Given the description of an element on the screen output the (x, y) to click on. 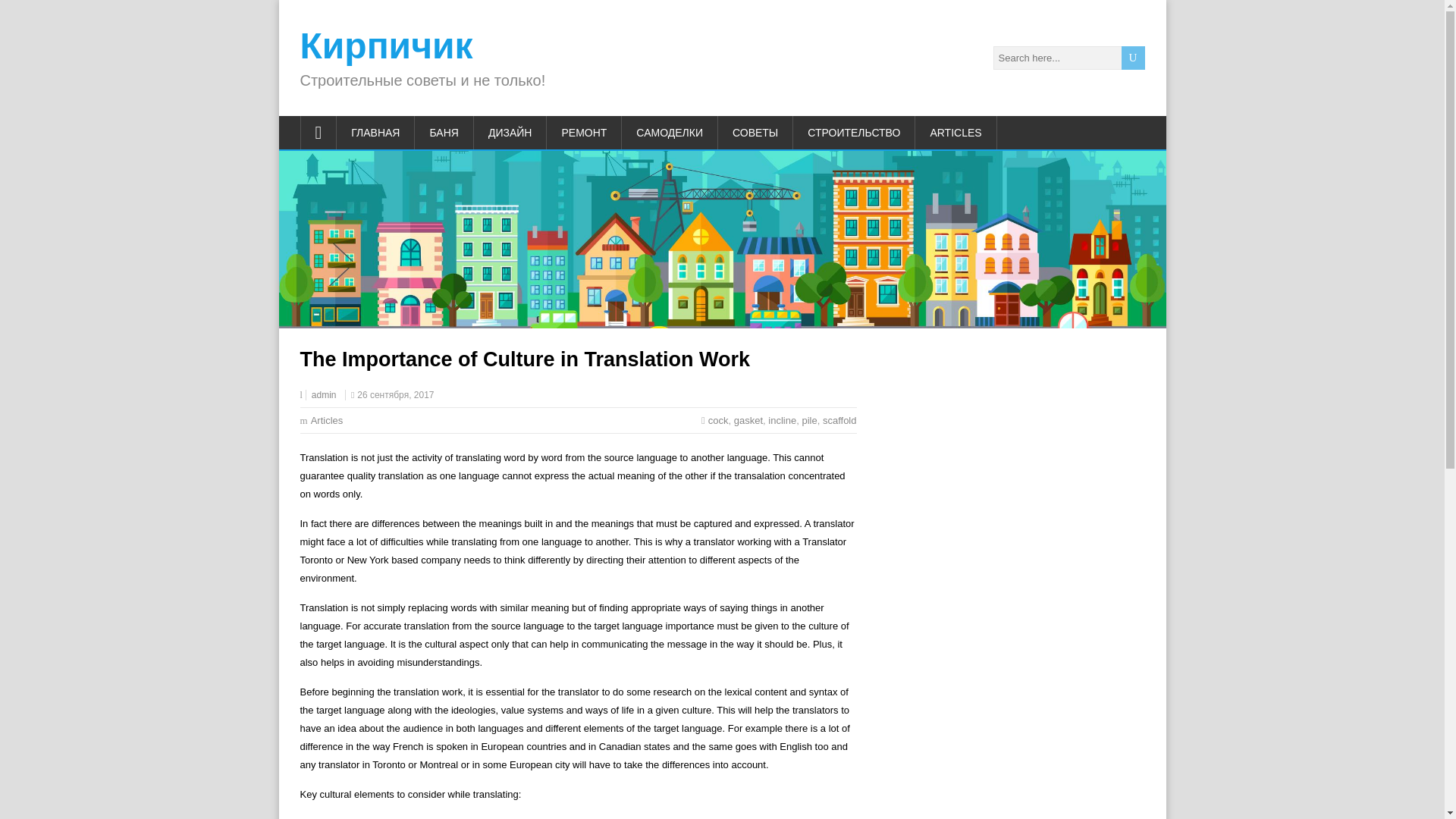
U (1132, 57)
scaffold (839, 419)
U (1132, 57)
U (1132, 57)
gasket (747, 419)
admin (323, 394)
incline (782, 419)
cock (718, 419)
Articles (327, 419)
ARTICLES (955, 132)
pile (809, 419)
